Given the description of an element on the screen output the (x, y) to click on. 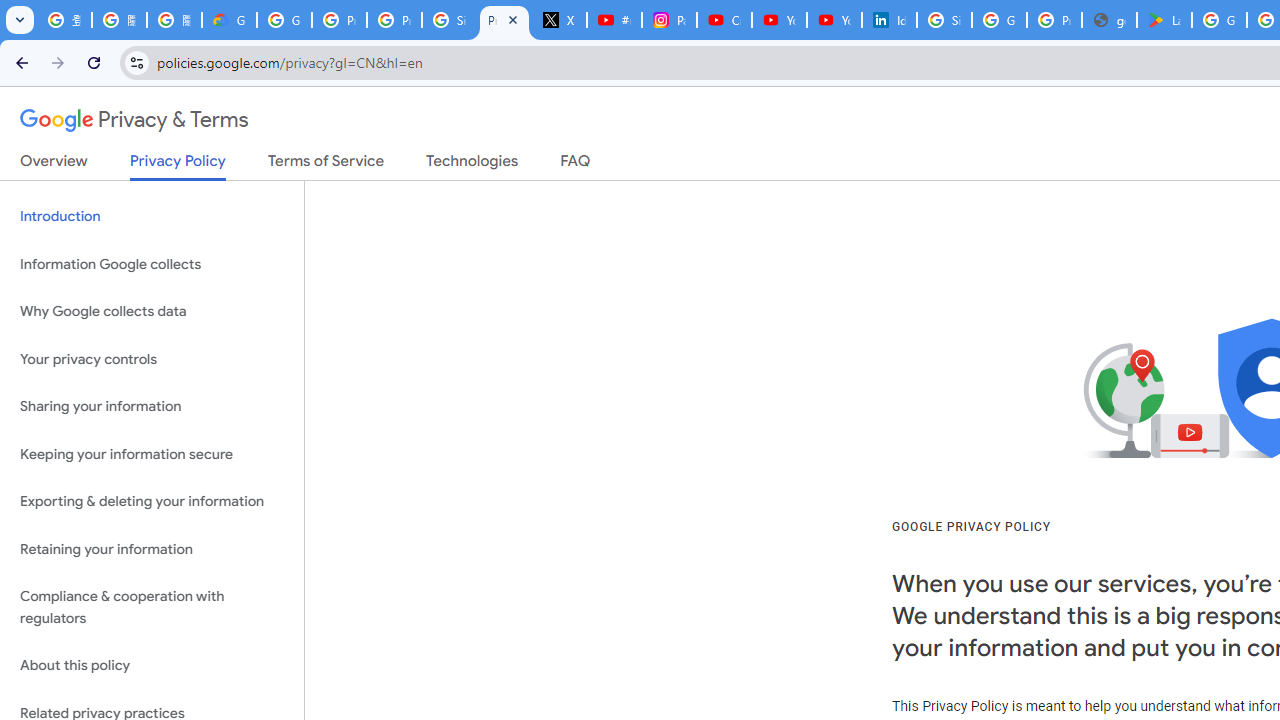
Sign in - Google Accounts (943, 20)
Google Cloud Privacy Notice (229, 20)
YouTube Culture & Trends - YouTube Top 10, 2021 (833, 20)
Exporting & deleting your information (152, 502)
Information Google collects (152, 263)
About this policy (152, 666)
Sign in - Google Accounts (449, 20)
X (559, 20)
Compliance & cooperation with regulators (152, 607)
Your privacy controls (152, 358)
google_privacy_policy_en.pdf (1108, 20)
